Given the description of an element on the screen output the (x, y) to click on. 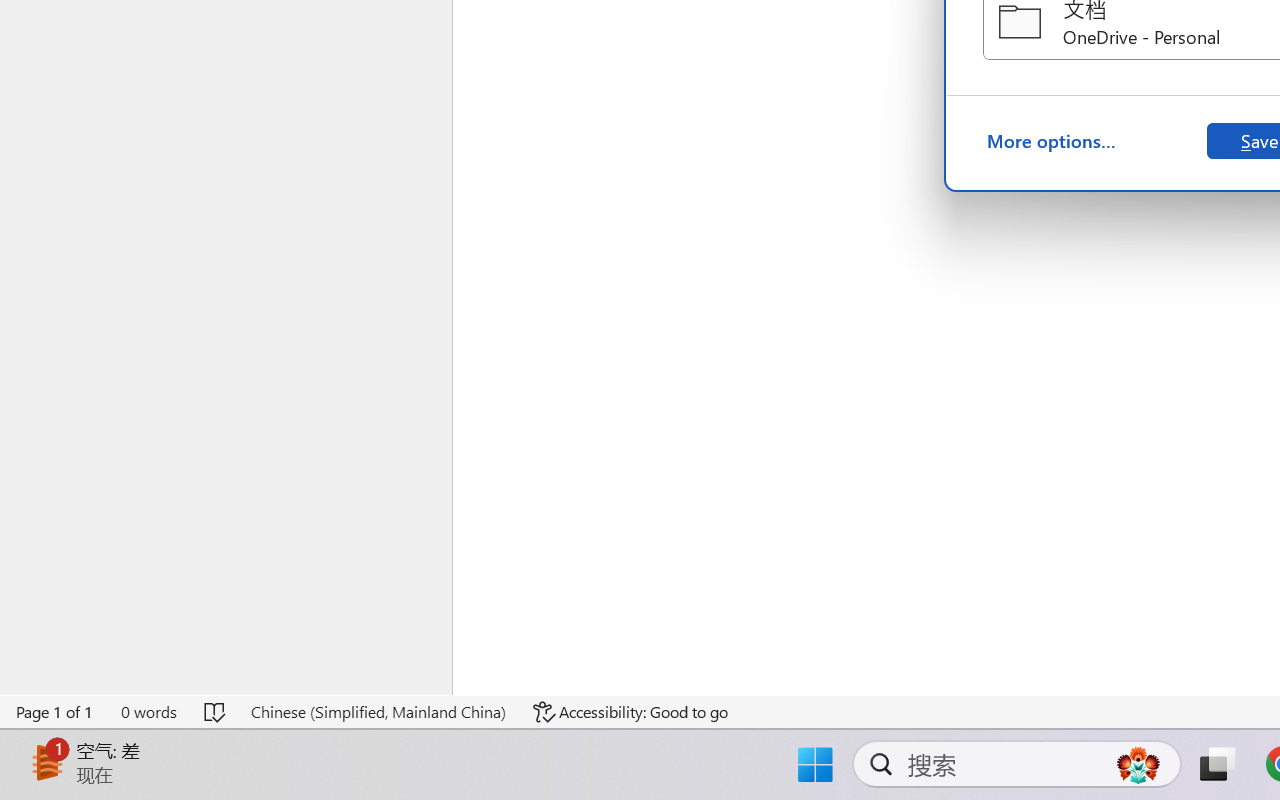
Language Chinese (Simplified, Mainland China) (378, 712)
